Given the description of an element on the screen output the (x, y) to click on. 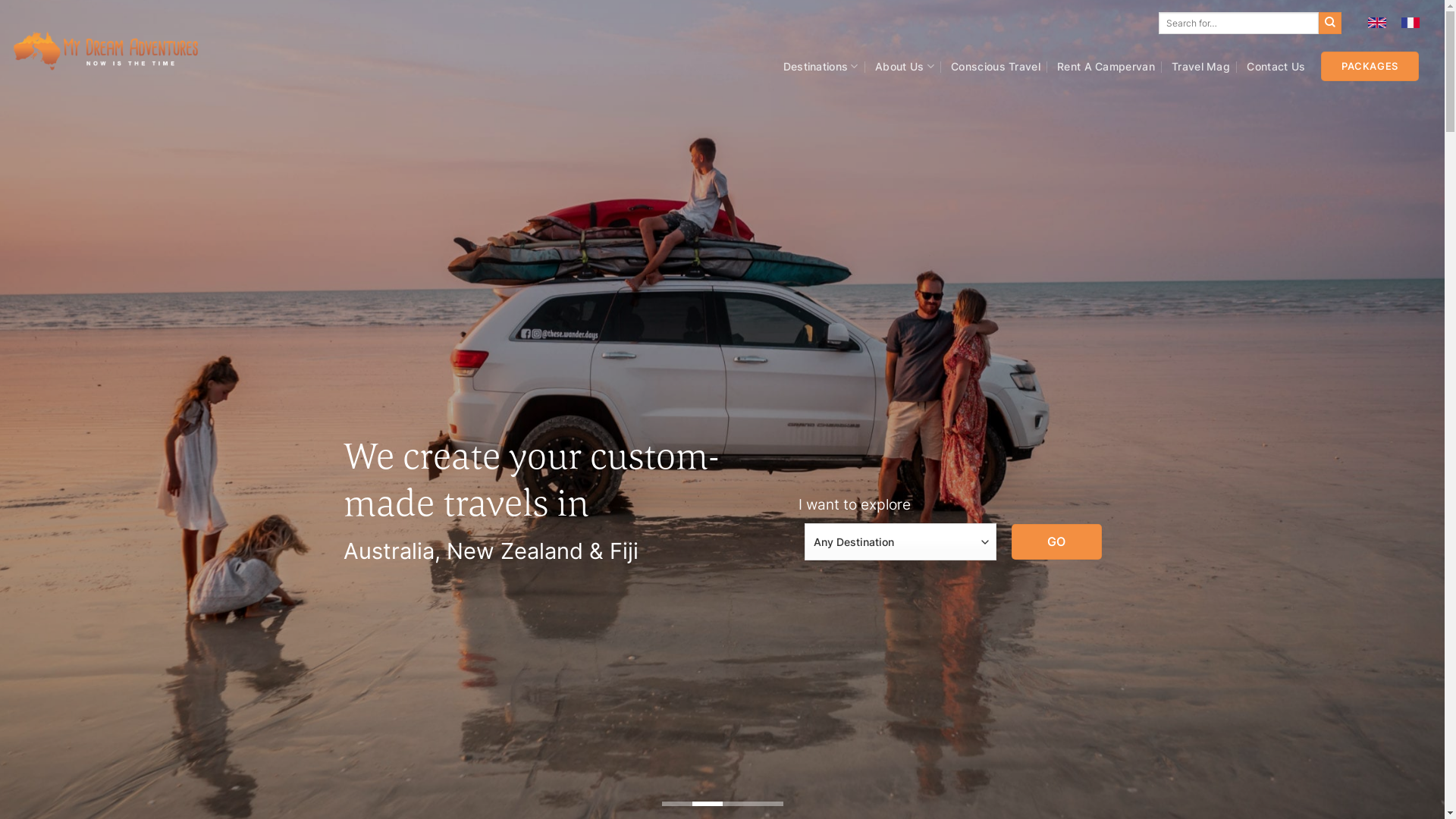
My Dream Adventures Element type: hover (105, 50)
Contact Us Element type: text (1275, 65)
Destinations Element type: text (820, 65)
Go Element type: text (1056, 541)
Travel Mag Element type: text (1200, 65)
Conscious Travel Element type: text (995, 65)
About Us Element type: text (904, 65)
Skip to content Element type: text (0, 0)
Rent A Campervan Element type: text (1105, 65)
PACKAGES Element type: text (1369, 66)
